Given the description of an element on the screen output the (x, y) to click on. 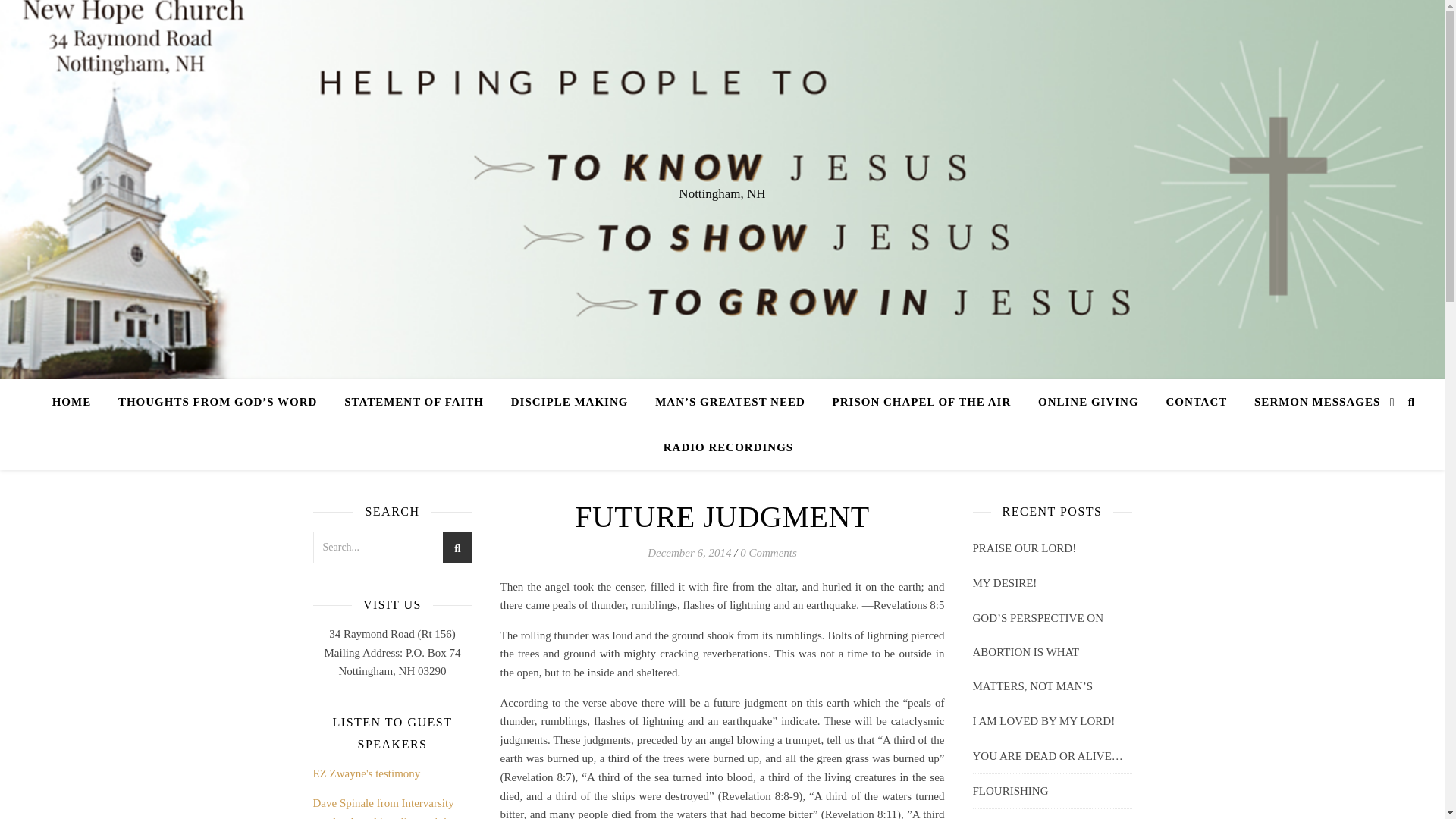
PRAISE OUR LORD! (1023, 548)
ONLINE GIVING (1088, 402)
EZ Zwayne's testimony (366, 773)
SERMON MESSAGES (1316, 402)
HOME (77, 402)
PRISON CHAPEL OF THE AIR (922, 402)
RADIO RECORDINGS (721, 447)
MY DESIRE! (1004, 582)
STATEMENT OF FAITH (413, 402)
